Given the description of an element on the screen output the (x, y) to click on. 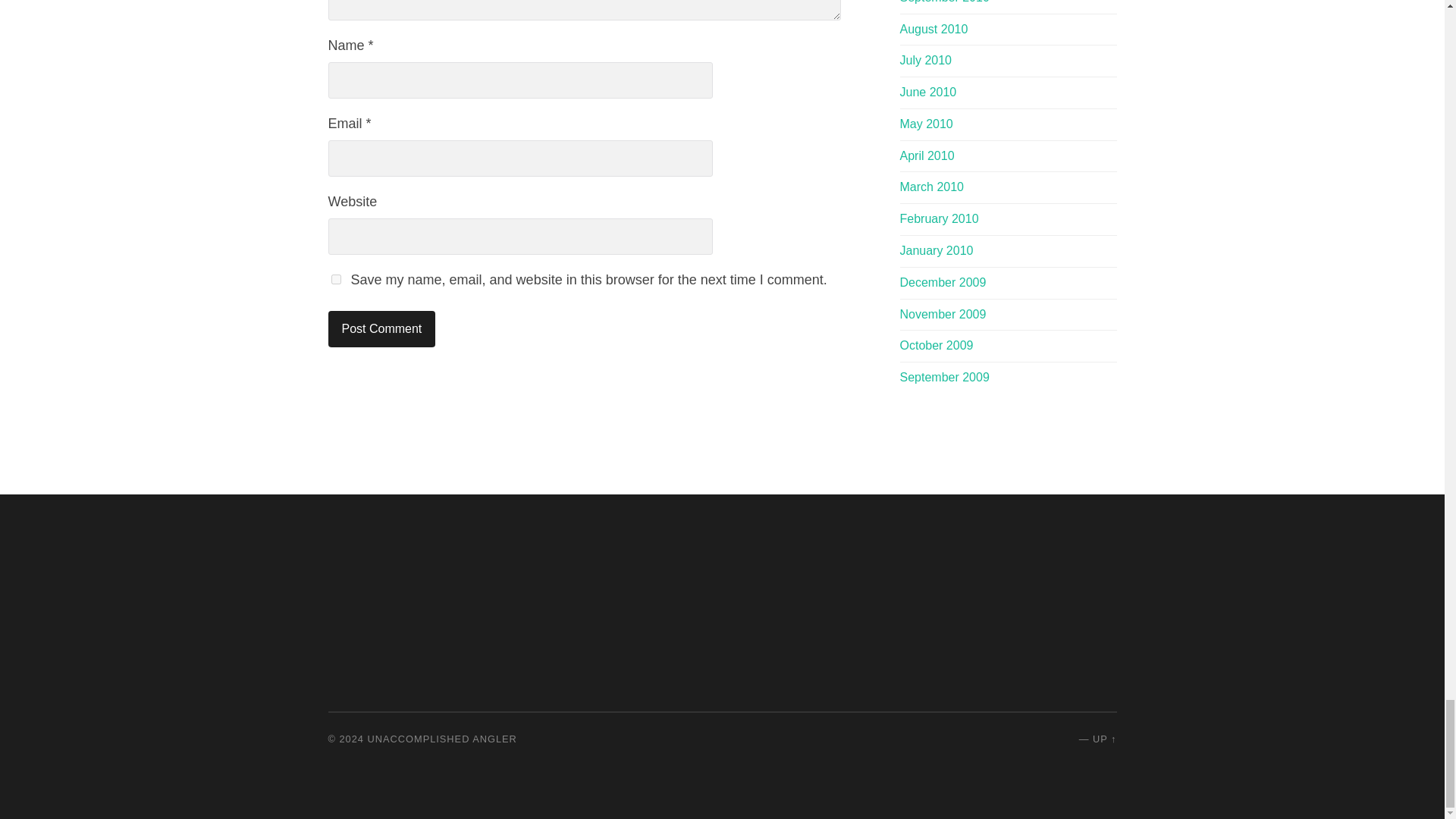
Post Comment (381, 329)
yes (335, 279)
